Given the description of an element on the screen output the (x, y) to click on. 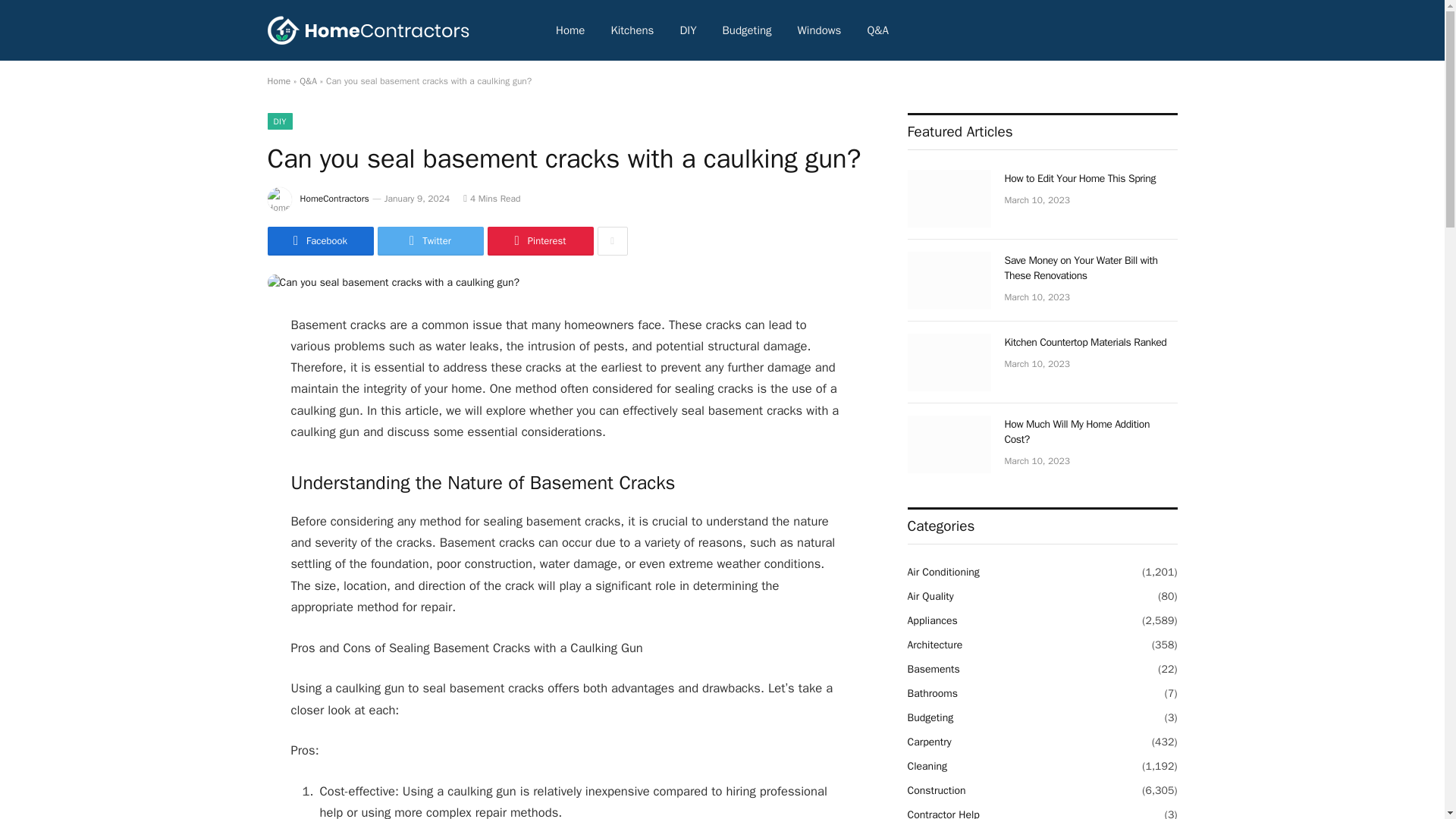
Twitter (430, 240)
HomeContractors.com (367, 30)
Share on Pinterest (539, 240)
Facebook (319, 240)
Kitchens (631, 30)
HomeContractors (334, 198)
Budgeting (747, 30)
Home (569, 30)
Posts by HomeContractors (334, 198)
DIY (279, 121)
Windows (819, 30)
Can you seal basement cracks with a caulking gun? (392, 282)
Pinterest (539, 240)
Show More Social Sharing (611, 240)
Home (277, 80)
